Given the description of an element on the screen output the (x, y) to click on. 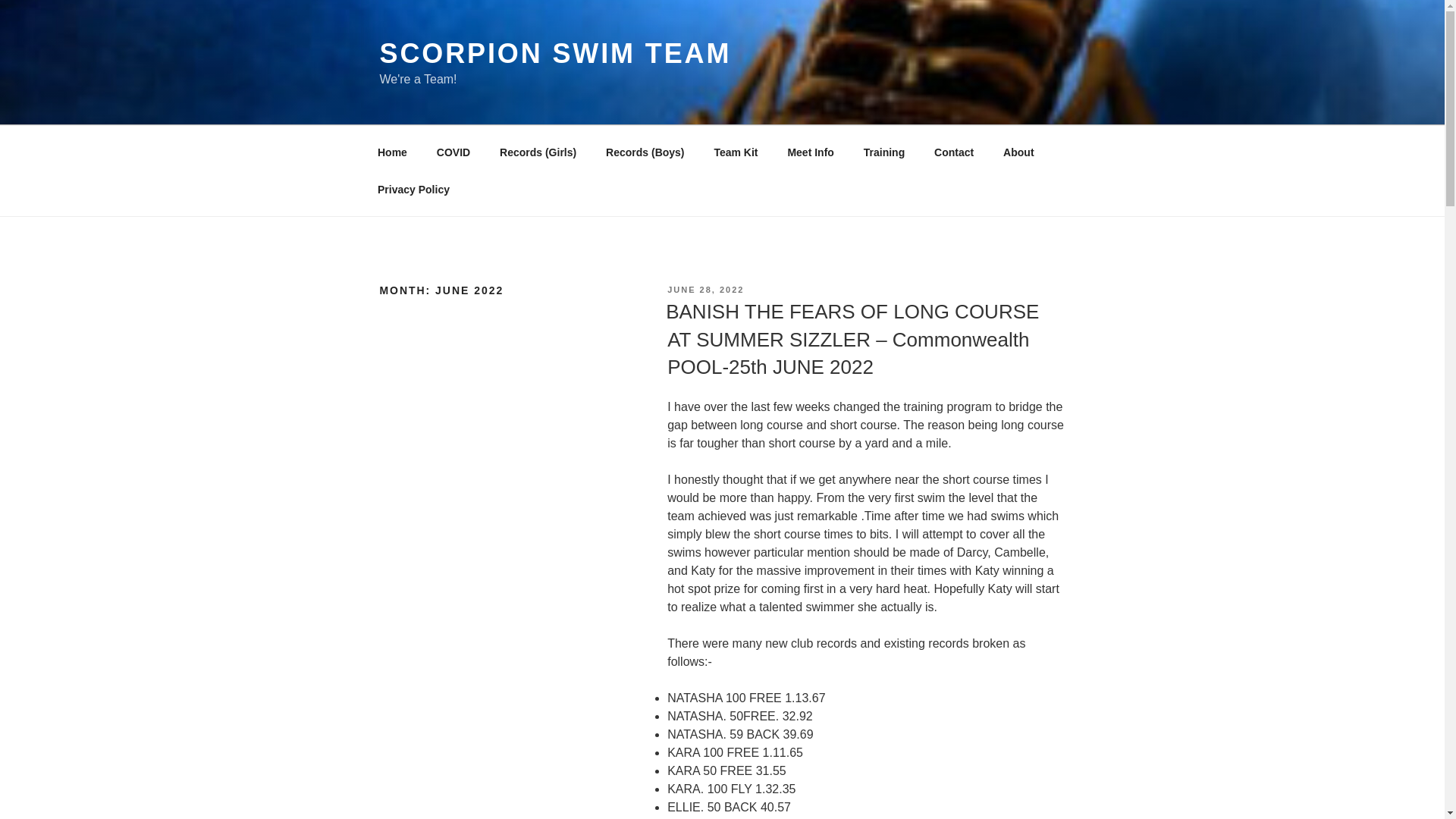
Team Kit (735, 151)
Privacy Policy (413, 189)
COVID (453, 151)
JUNE 28, 2022 (705, 289)
Training (883, 151)
SCORPION SWIM TEAM (554, 52)
Home (392, 151)
Contact (954, 151)
Meet Info (810, 151)
About (1018, 151)
